Given the description of an element on the screen output the (x, y) to click on. 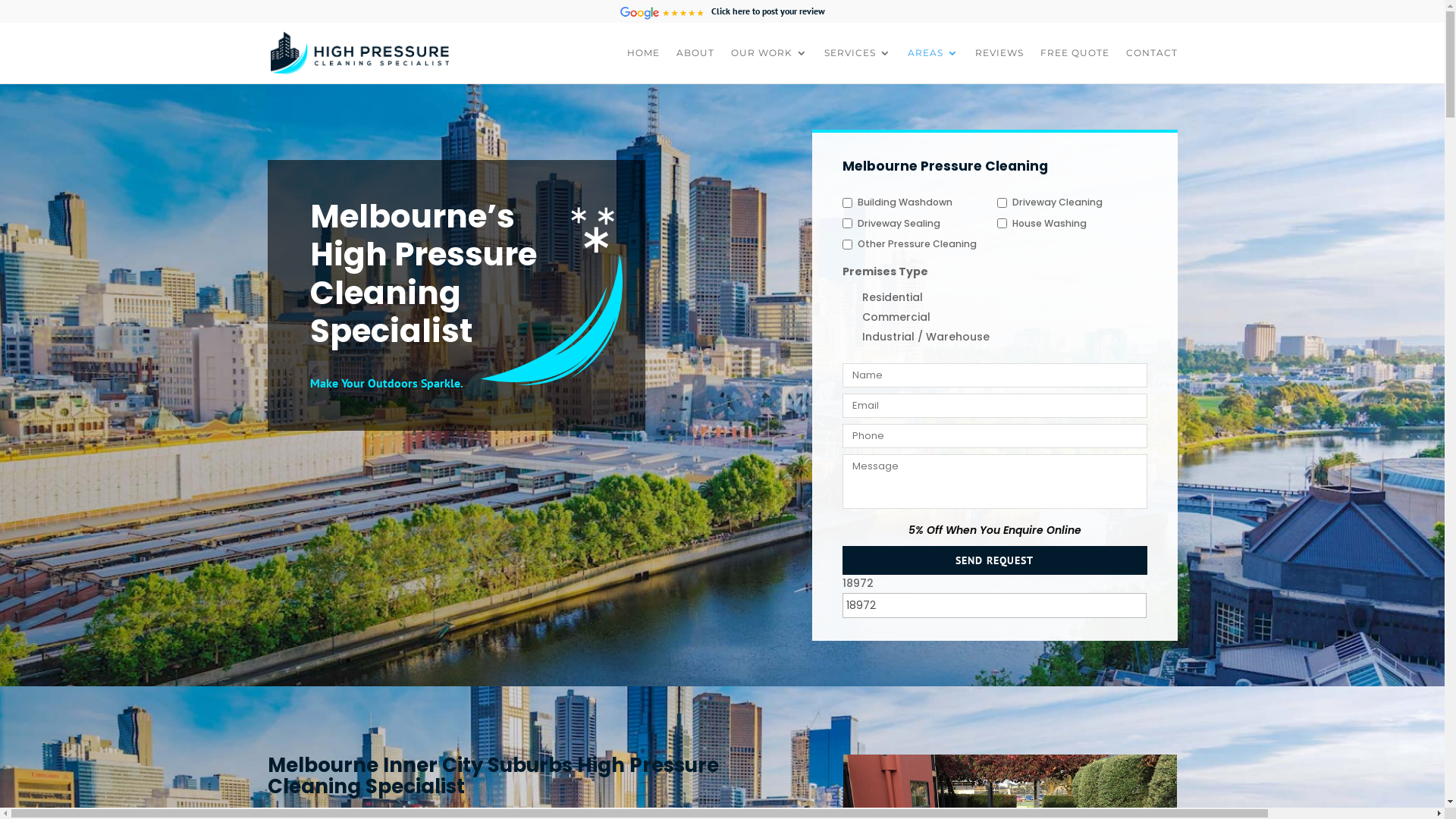
ABOUT Element type: text (695, 65)
SEND REQUEST Element type: text (994, 560)
HOME Element type: text (642, 65)
SERVICES Element type: text (856, 65)
AREAS Element type: text (931, 65)
Click here to post your review Element type: text (722, 14)
CONTACT Element type: text (1150, 65)
REVIEWS Element type: text (999, 65)
FREE QUOTE Element type: text (1074, 65)
OUR WORK Element type: text (769, 65)
